Given the description of an element on the screen output the (x, y) to click on. 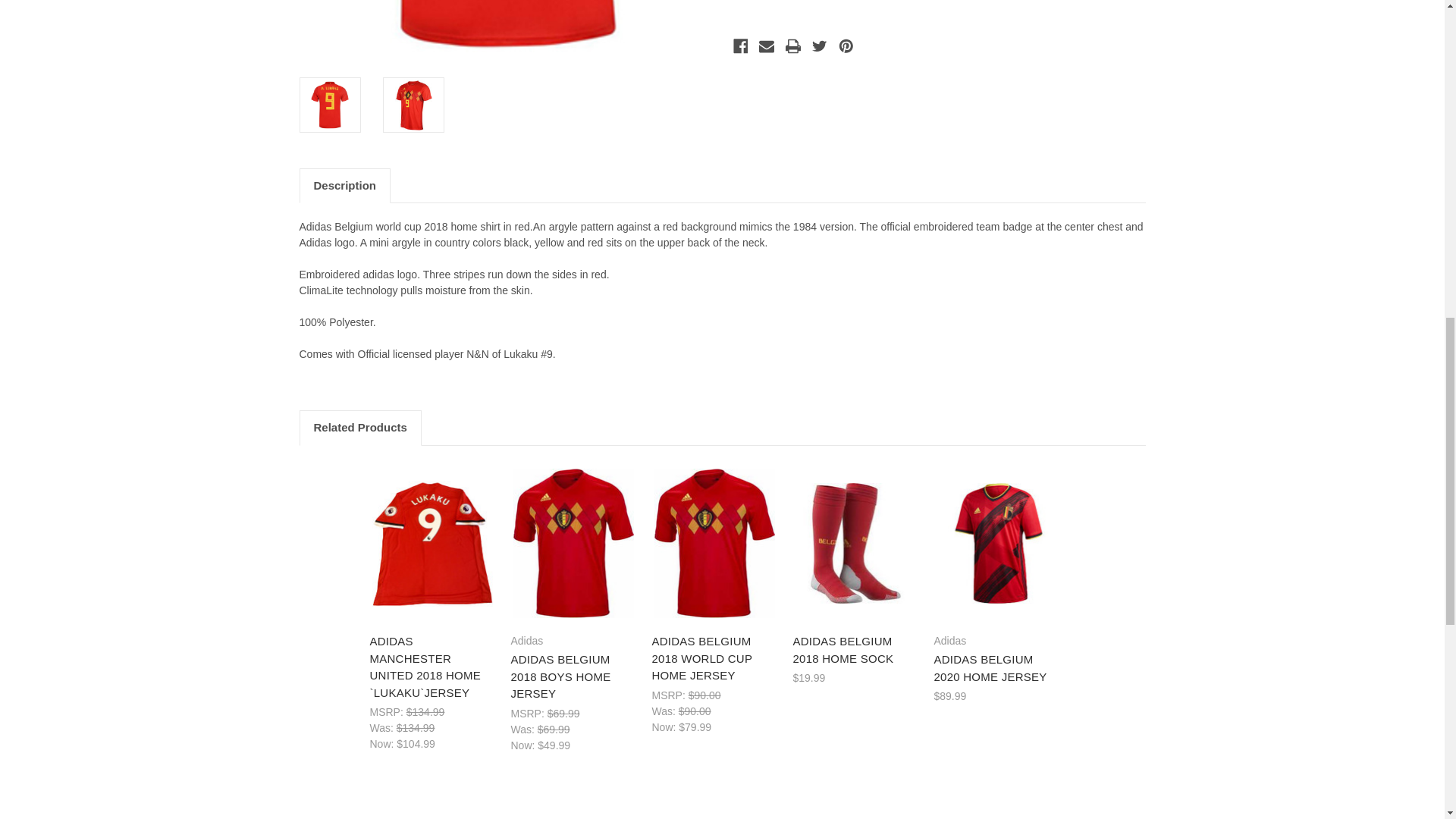
ADIDAS BELGIUM 2018 HOME SOCK (854, 543)
ADIDAS BELGIUM 2020 HOME JERSEY (996, 543)
